Given the description of an element on the screen output the (x, y) to click on. 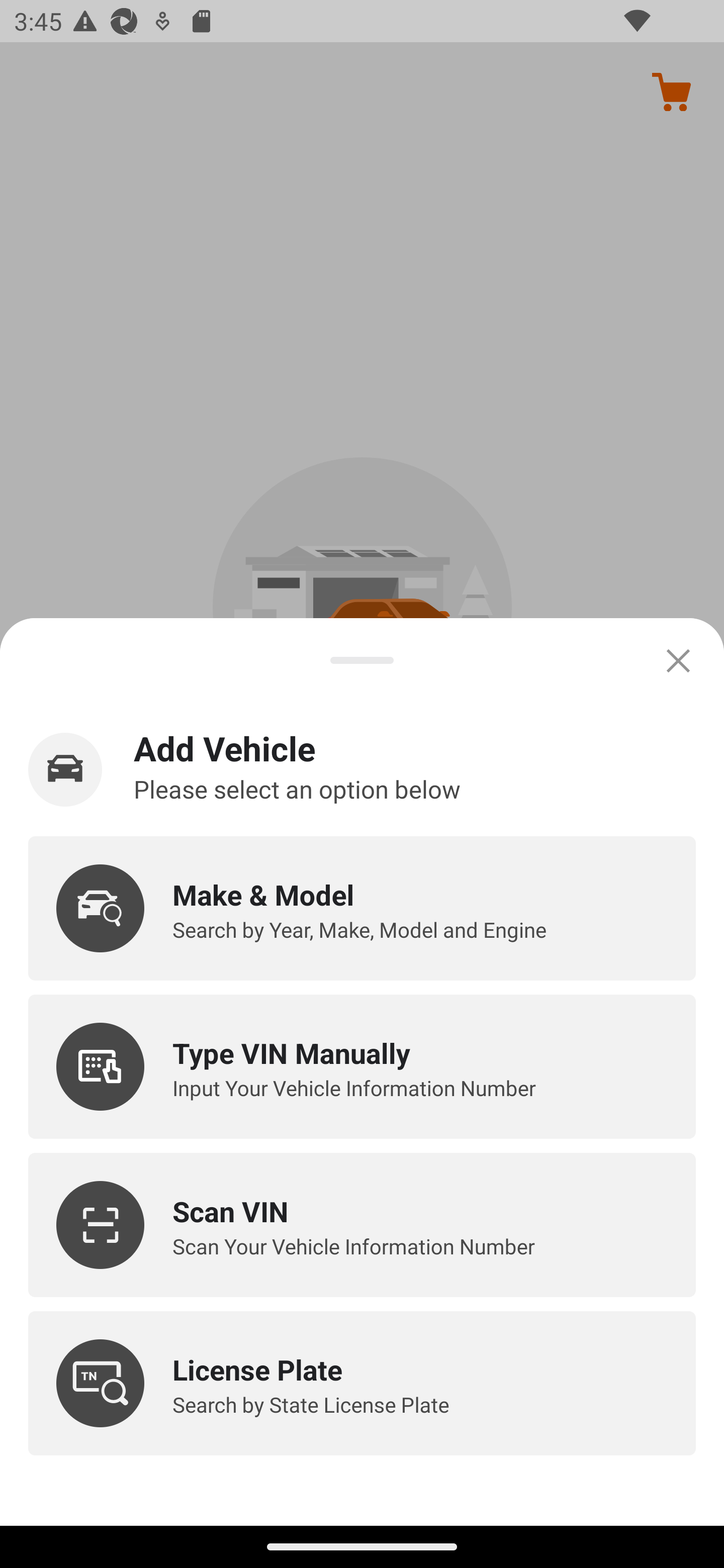
Close Modal  (677, 659)
